Given the description of an element on the screen output the (x, y) to click on. 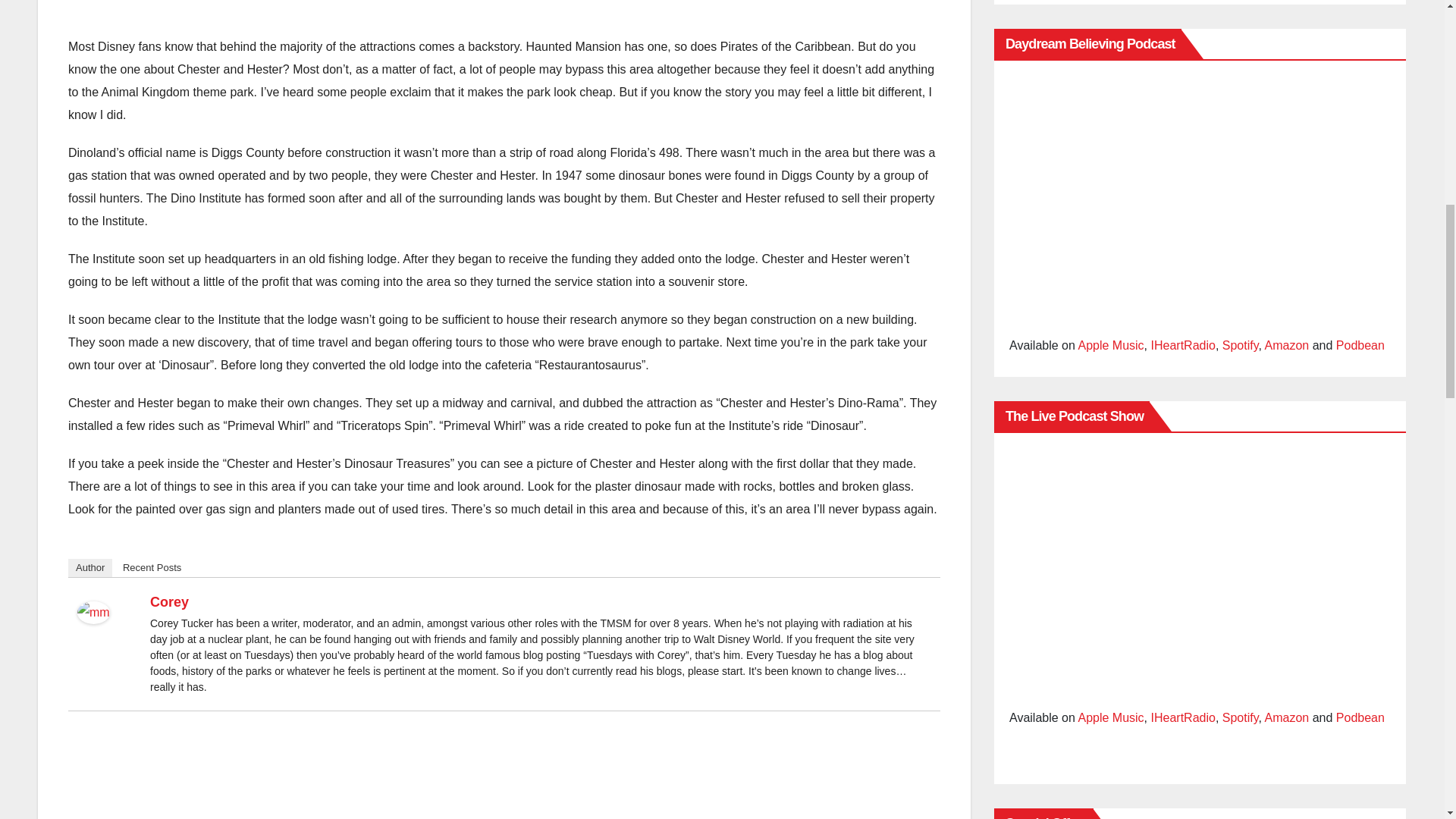
Corey (169, 601)
Recent Posts (152, 567)
Author (90, 567)
